Given the description of an element on the screen output the (x, y) to click on. 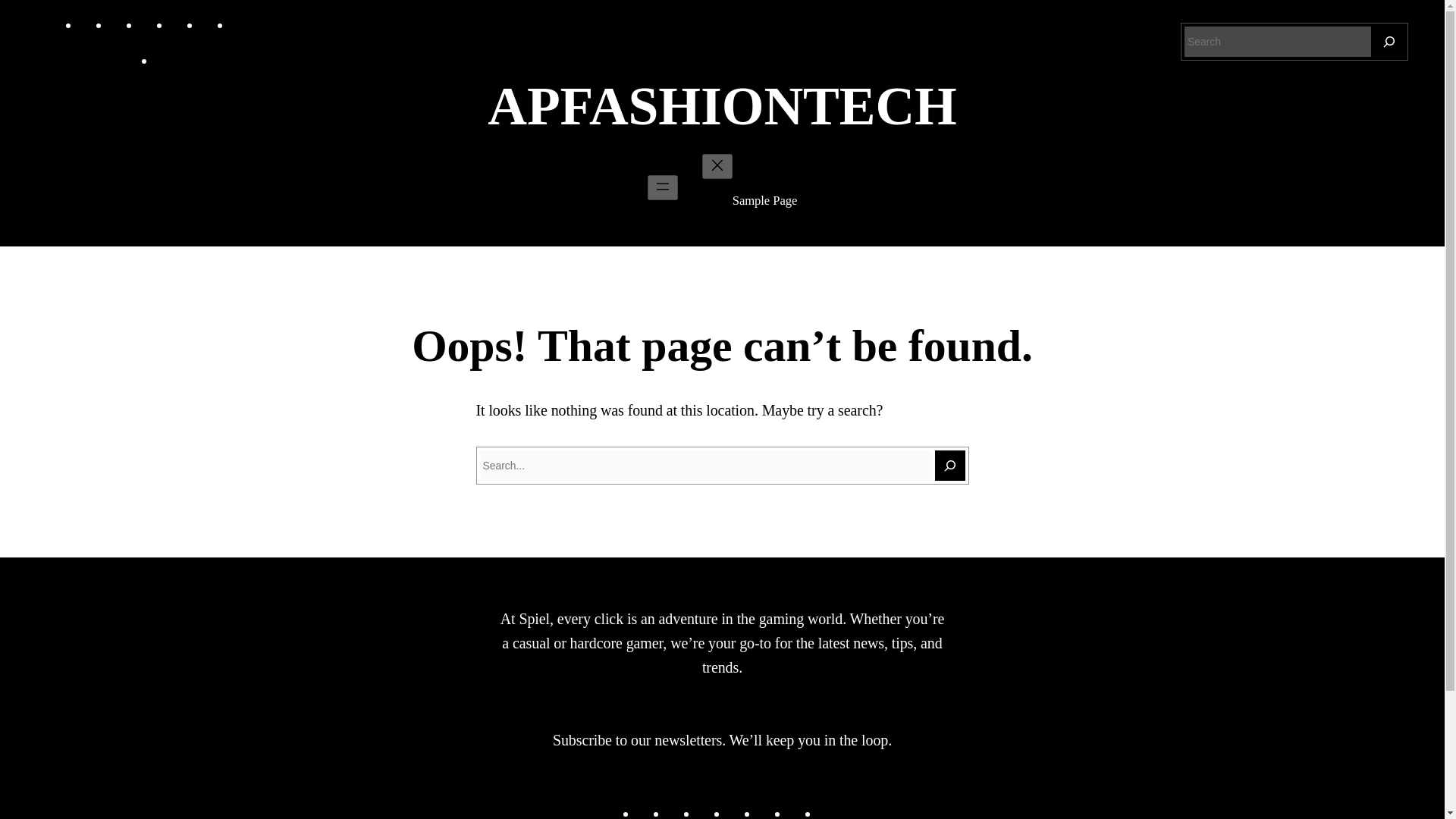
Twitch (827, 812)
Facebook (89, 24)
Facebook (646, 812)
Mastodon (736, 812)
Twitch (164, 60)
X (797, 812)
X (240, 24)
YouTube (210, 24)
Instagram (119, 24)
TikTok (706, 812)
YouTube (767, 812)
TikTok (149, 24)
Mastodon (180, 24)
Instagram (675, 812)
Sample Page (764, 200)
